Given the description of an element on the screen output the (x, y) to click on. 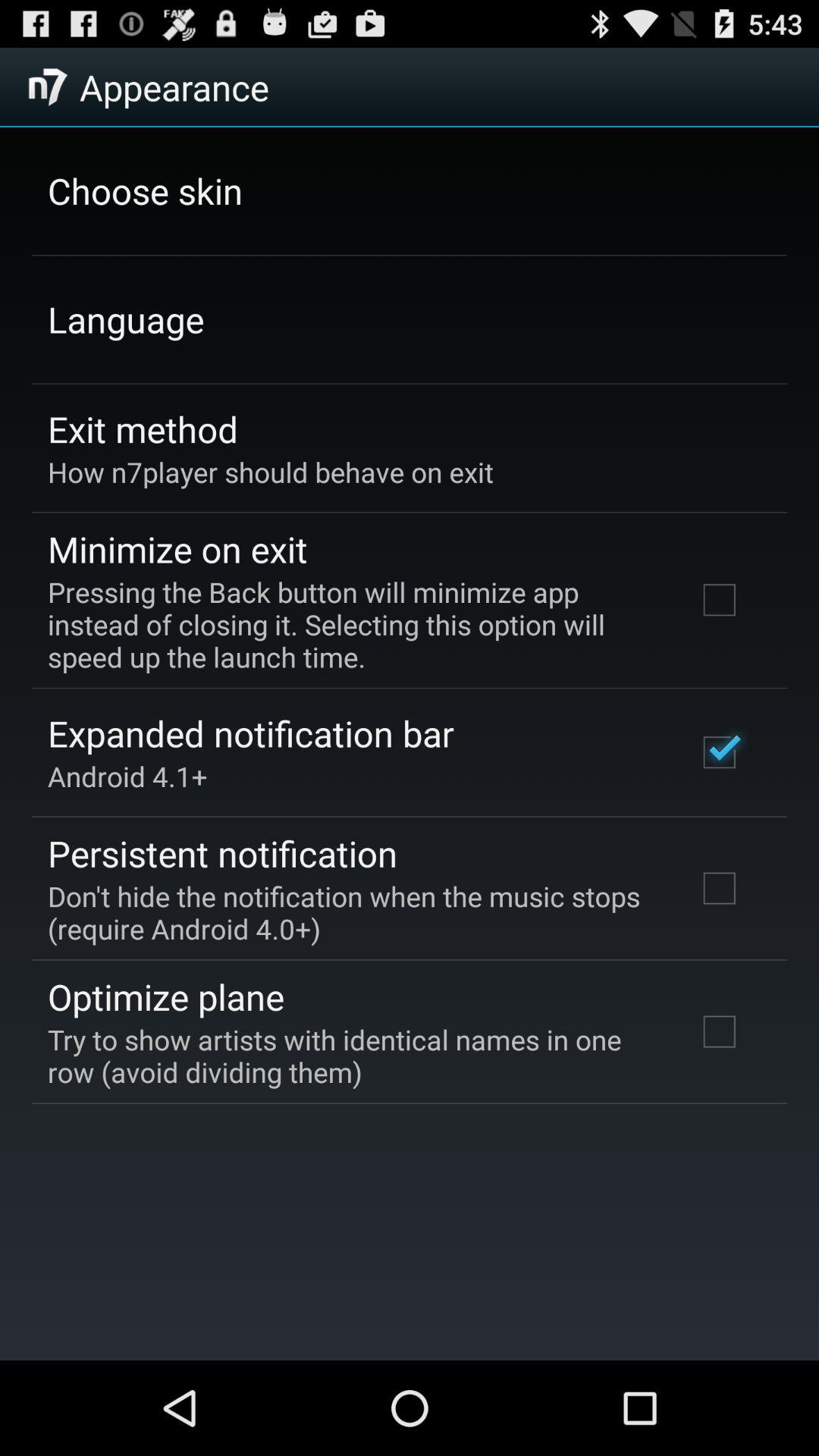
choose the app below the choose skin (125, 319)
